Given the description of an element on the screen output the (x, y) to click on. 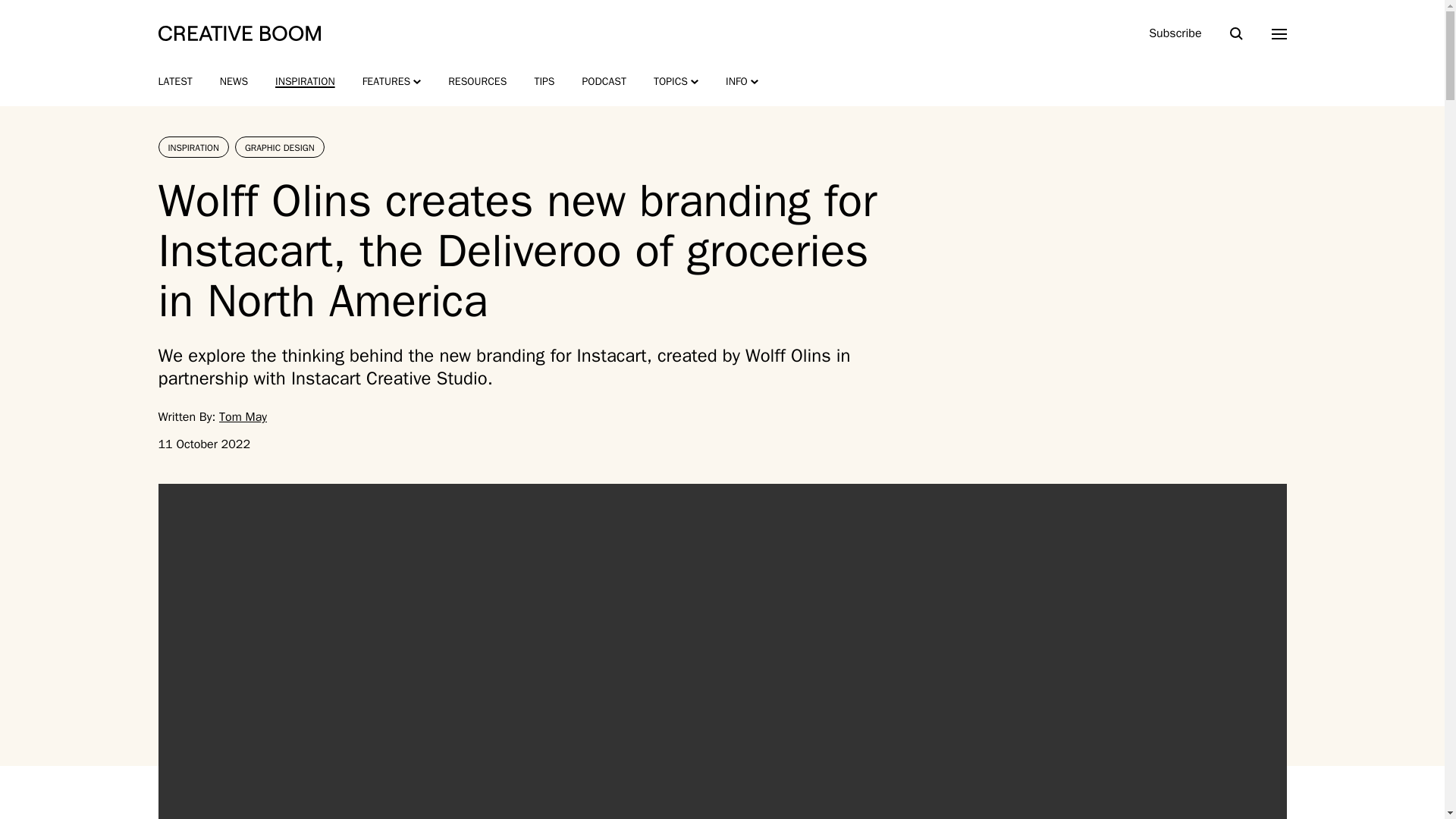
FEATURES (392, 81)
Subscribe (1174, 33)
TOPICS (675, 81)
RESOURCES (477, 81)
INSPIRATION (304, 81)
PODCAST (604, 81)
